Given the description of an element on the screen output the (x, y) to click on. 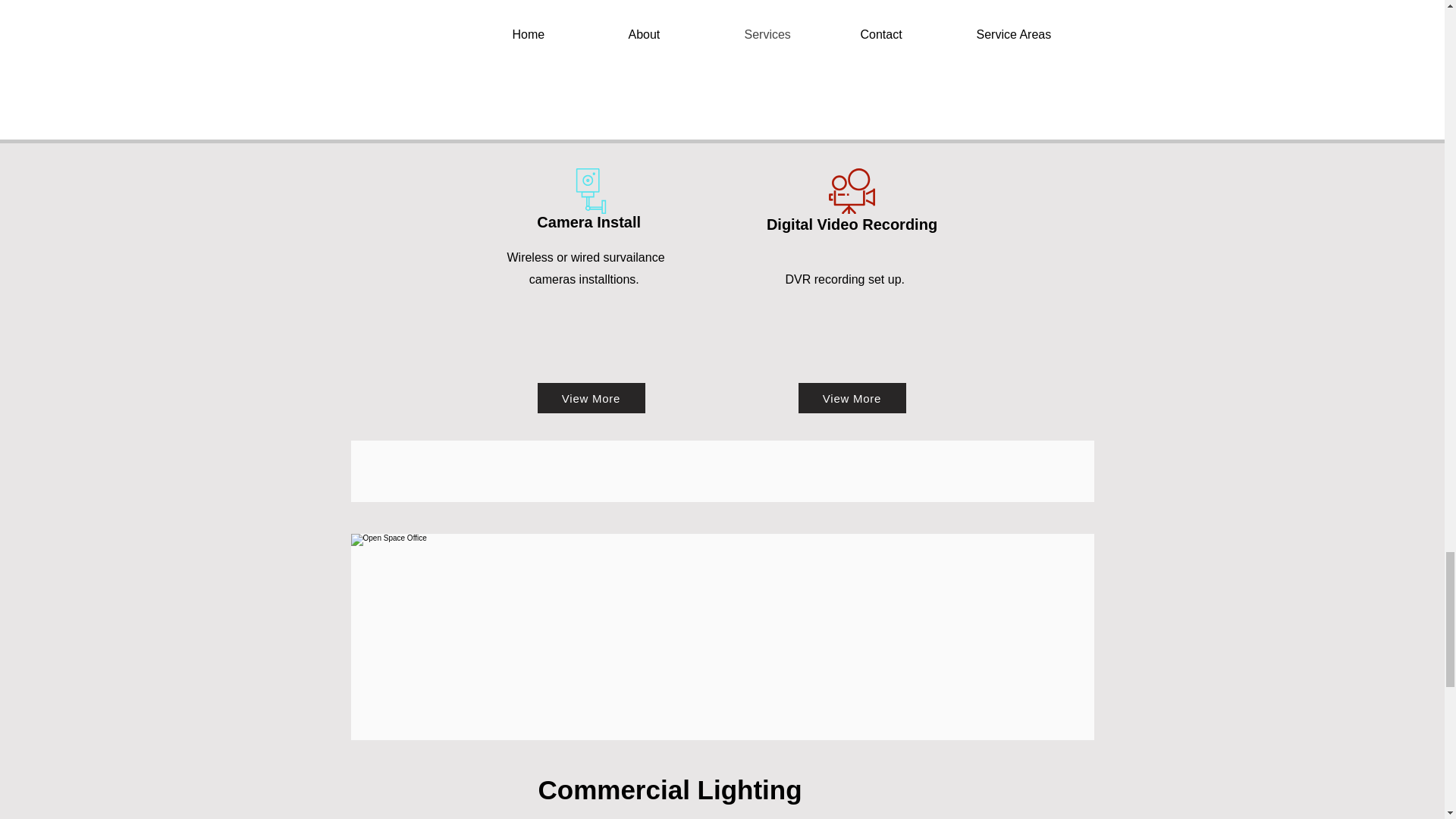
View More (851, 398)
View More (591, 398)
